Given the description of an element on the screen output the (x, y) to click on. 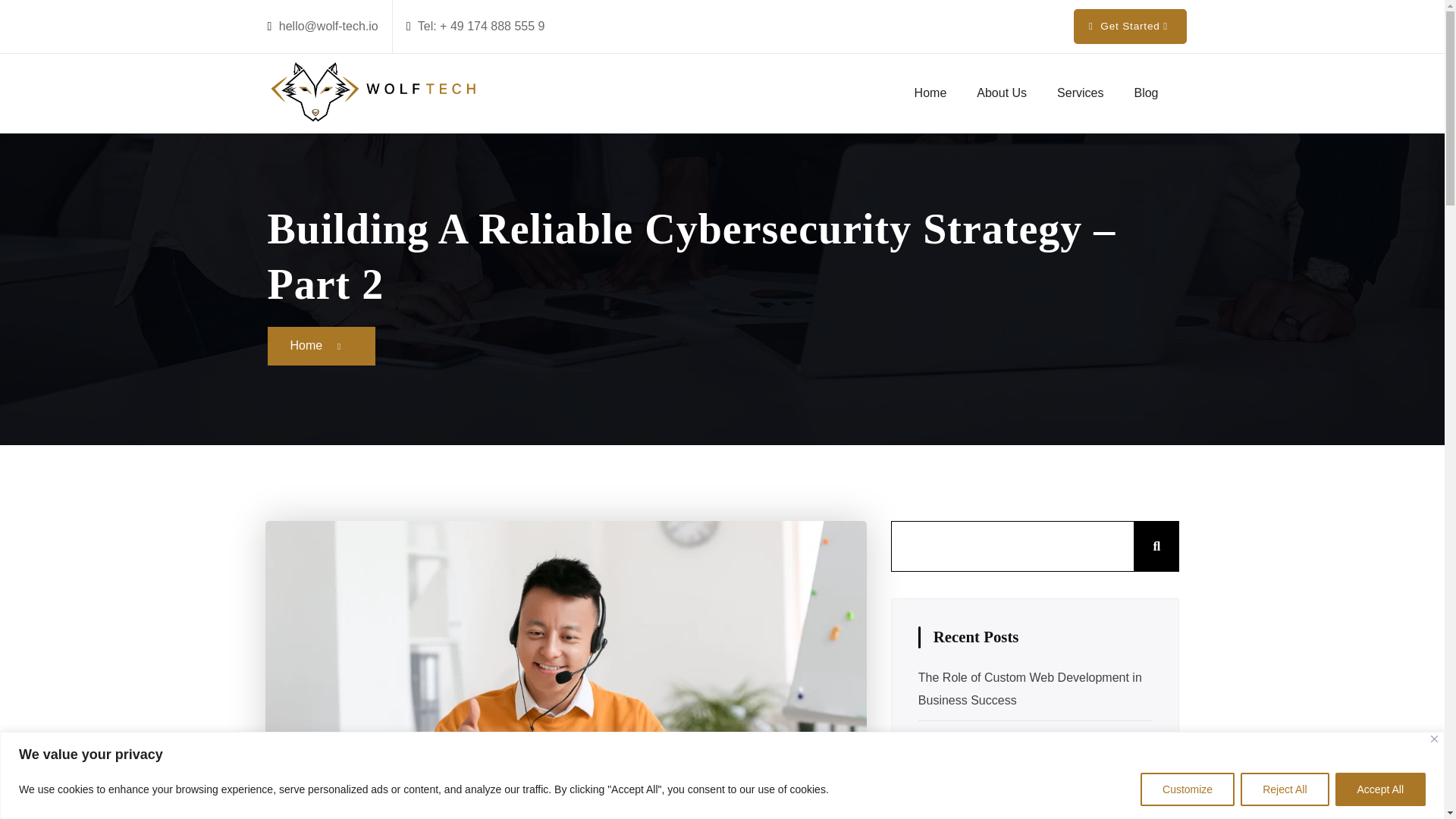
Home (930, 92)
About Us (1001, 92)
Accept All (1380, 788)
Home (930, 92)
Blog (1145, 92)
Home (305, 345)
Customize (1187, 788)
Blog (1145, 92)
Services (1080, 92)
Reject All (1283, 788)
Services (1080, 92)
Get Started (1130, 26)
About Us (1001, 92)
logo (372, 93)
